Given the description of an element on the screen output the (x, y) to click on. 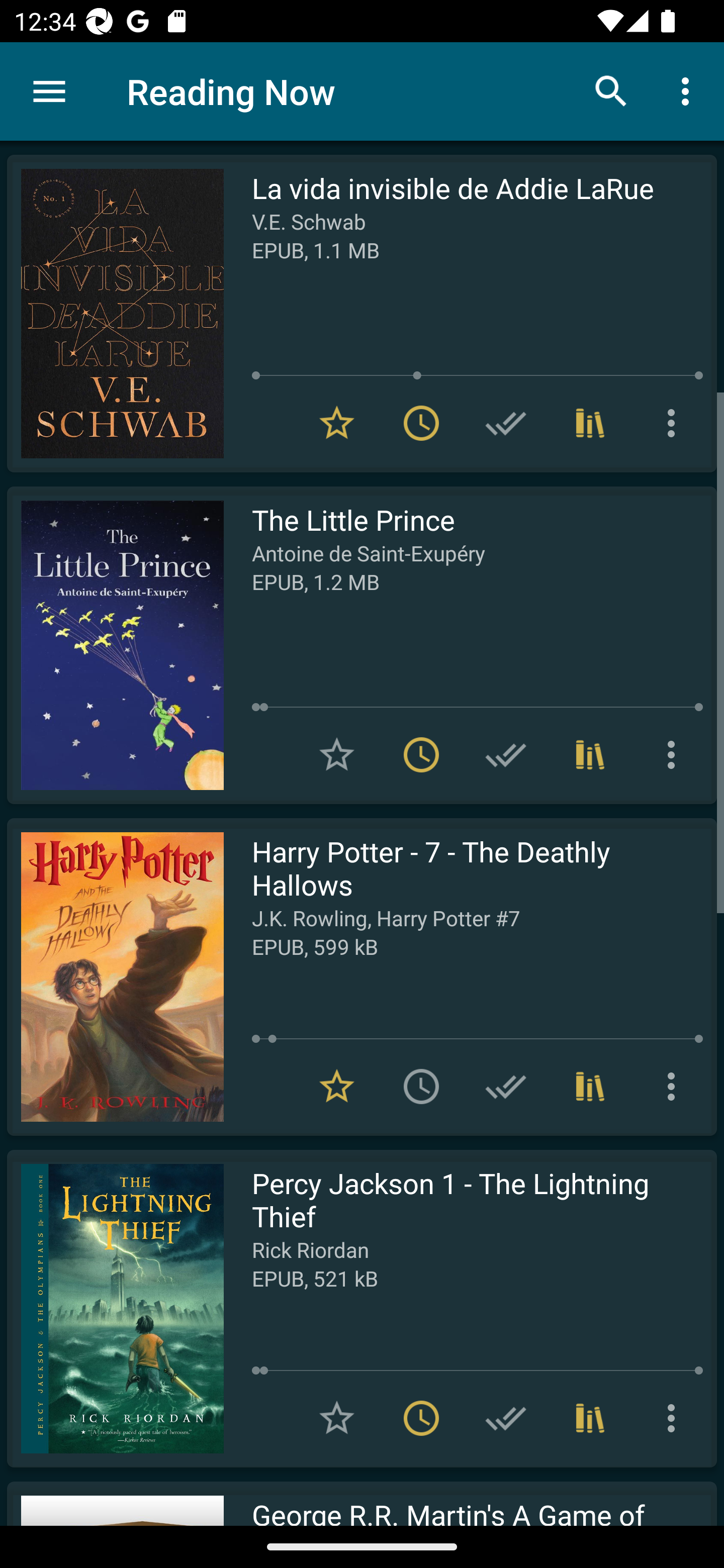
Menu (49, 91)
Search books & documents (611, 90)
More options (688, 90)
Read La vida invisible de Addie LaRue (115, 313)
Remove from Favorites (336, 423)
Remove from To read (421, 423)
Add to Have read (505, 423)
Collections (1) (590, 423)
More options (674, 423)
Read The Little Prince (115, 645)
Add to Favorites (336, 753)
Remove from To read (421, 753)
Add to Have read (505, 753)
Collections (1) (590, 753)
More options (674, 753)
Read Harry Potter - 7 - The Deathly Hallows (115, 976)
Remove from Favorites (336, 1086)
